Given the description of an element on the screen output the (x, y) to click on. 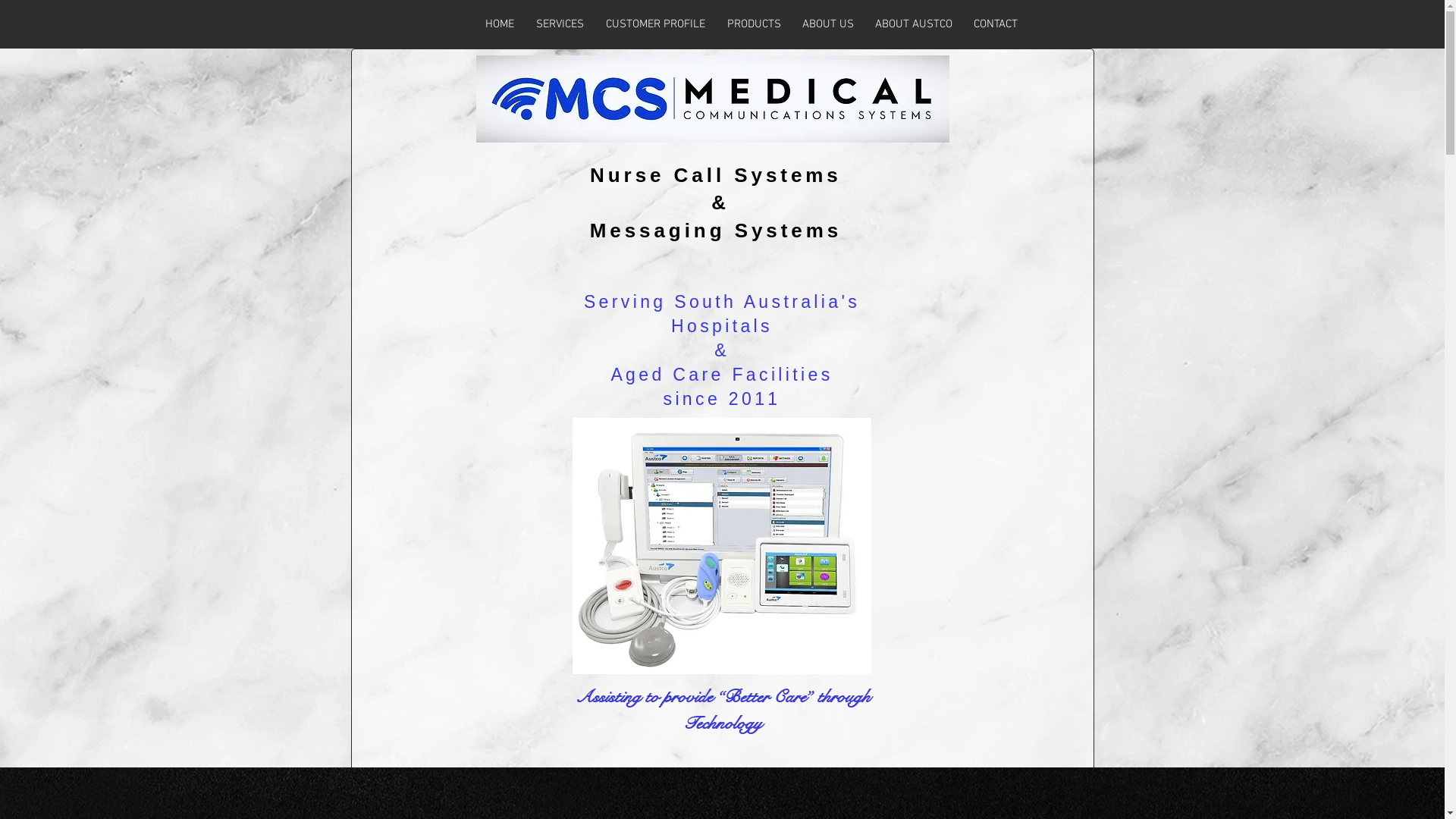
PRODUCTS Element type: text (752, 24)
CUSTOMER PROFILE Element type: text (654, 24)
Tacera PC Image.jpg Element type: hover (720, 545)
ABOUT US Element type: text (827, 24)
CONTACT Element type: text (995, 24)
ABOUT AUSTCO Element type: text (913, 24)
HOME Element type: text (499, 24)
SERVICES Element type: text (559, 24)
